Given the description of an element on the screen output the (x, y) to click on. 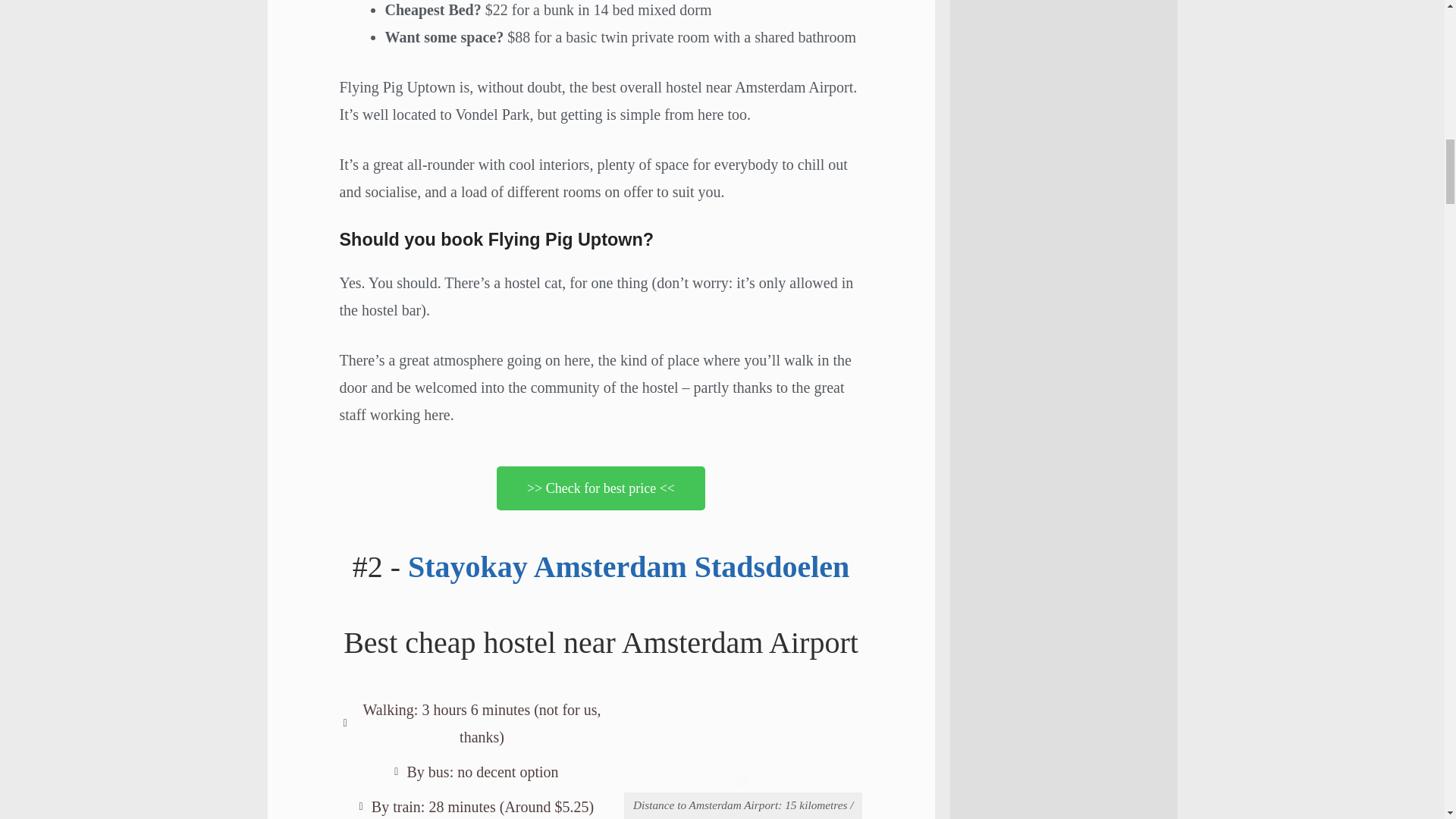
Stayokay Amsterdam Stadsdoelen (627, 566)
